Given the description of an element on the screen output the (x, y) to click on. 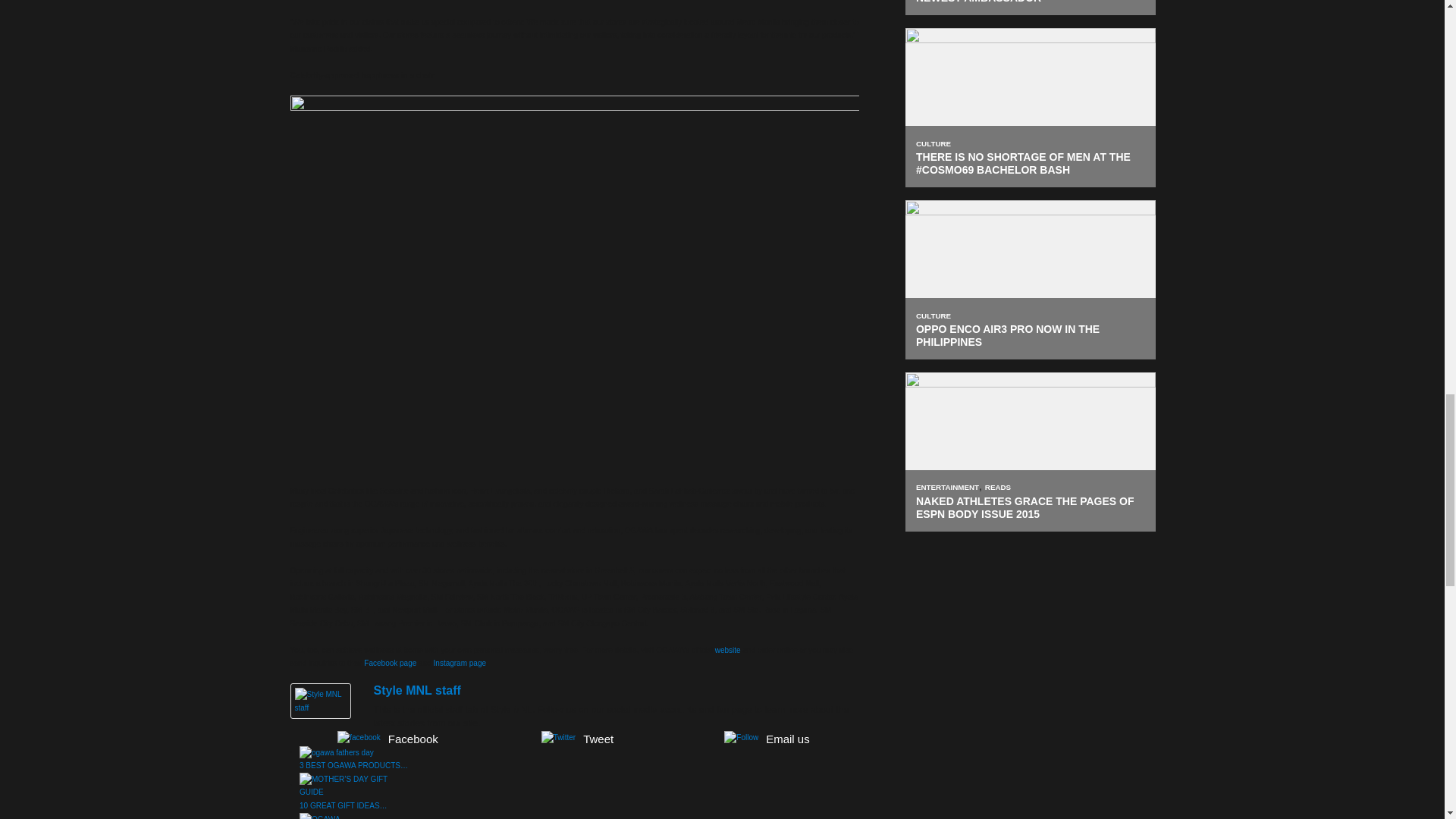
Style MNL staff (319, 700)
Instagram page (459, 663)
10 GREAT GIFT IDEAS FOR MOM THIS MOTHER'S DAY (356, 786)
Style MNL staff (416, 689)
Facebook page (390, 663)
website (727, 650)
3 BEST OGAWA PRODUCTS FOR FATHER'S DAY (336, 753)
